Given the description of an element on the screen output the (x, y) to click on. 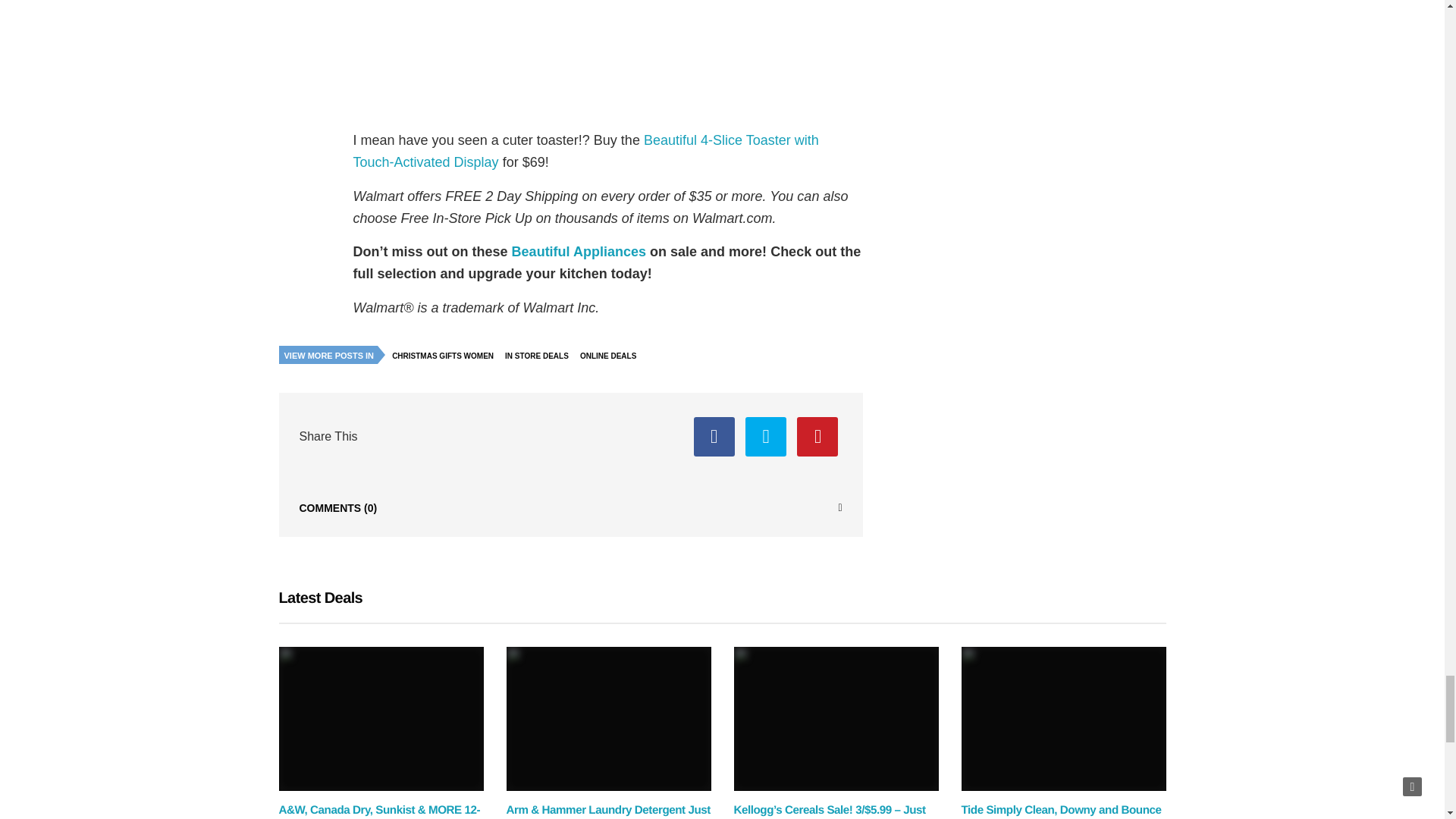
Christmas Gifts Women (446, 355)
In Store Deals (539, 355)
Online Deals (612, 355)
